Given the description of an element on the screen output the (x, y) to click on. 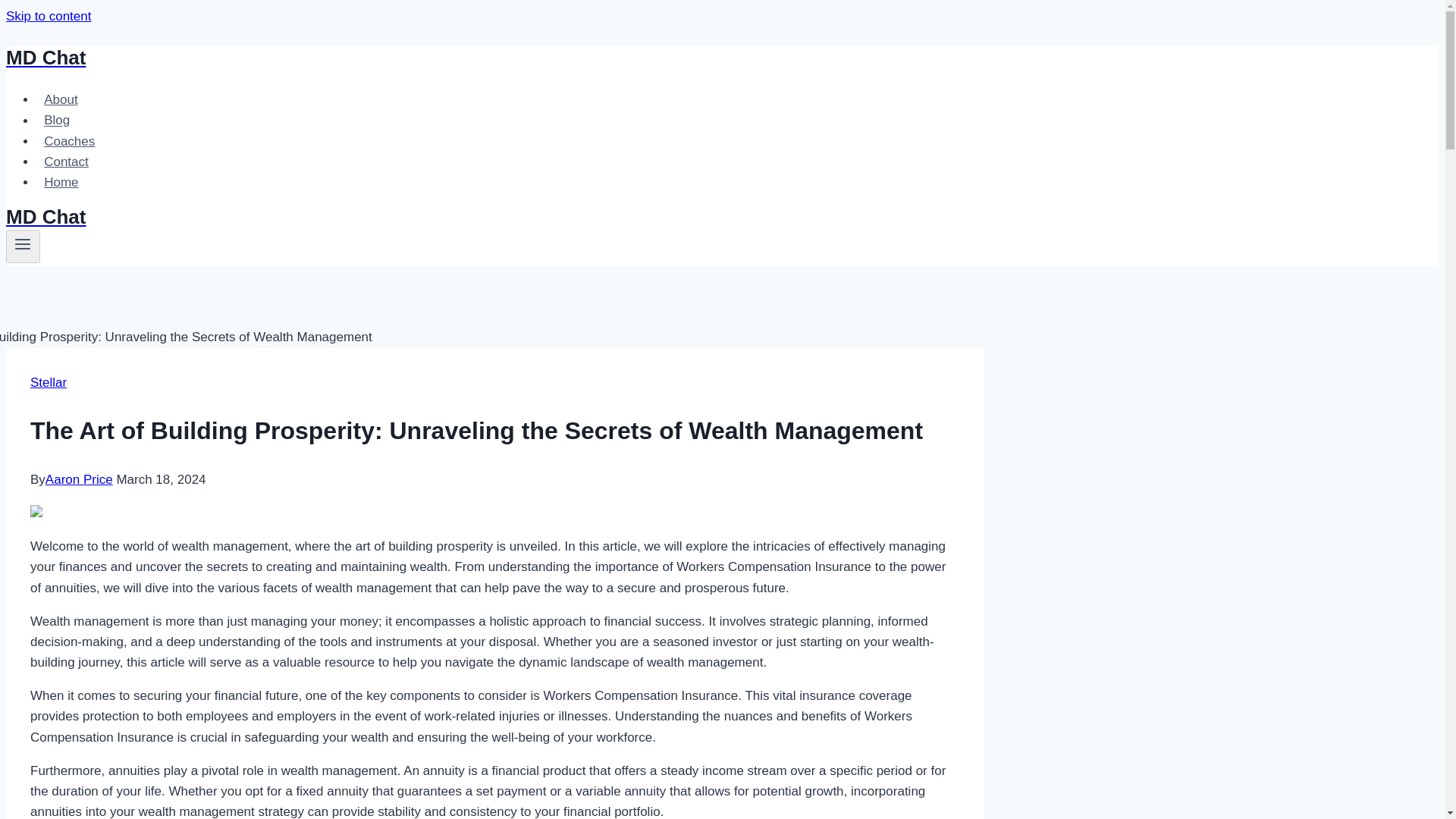
MD Chat (494, 217)
Blog (56, 120)
About (60, 99)
Toggle Menu (22, 245)
Toggle Menu (22, 244)
MD Chat (494, 57)
Home (60, 182)
Skip to content (47, 16)
Stellar (48, 381)
Coaches (68, 141)
Aaron Price (79, 479)
Skip to content (47, 16)
Contact (66, 161)
